Given the description of an element on the screen output the (x, y) to click on. 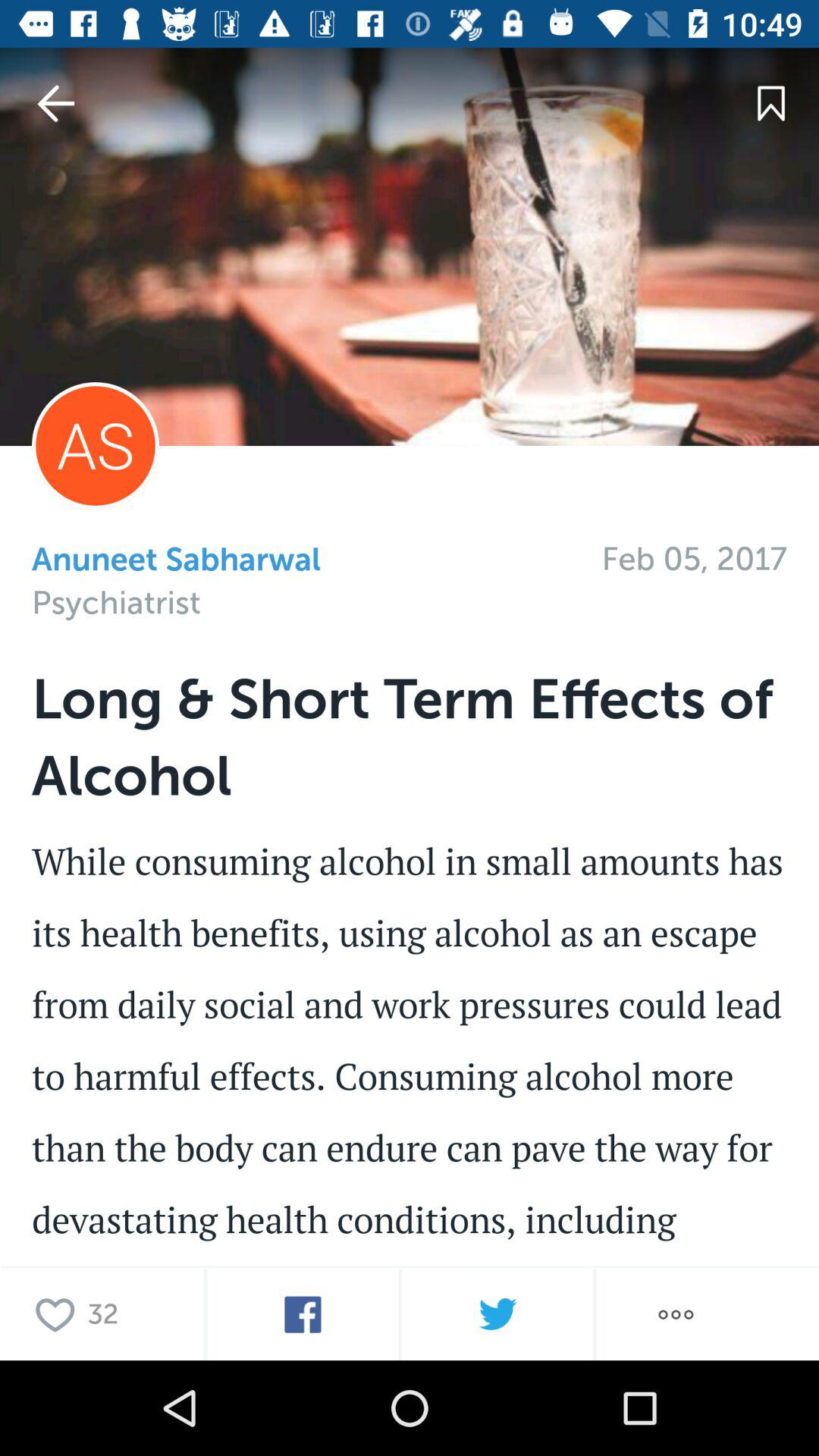
like comment (59, 1314)
